Given the description of an element on the screen output the (x, y) to click on. 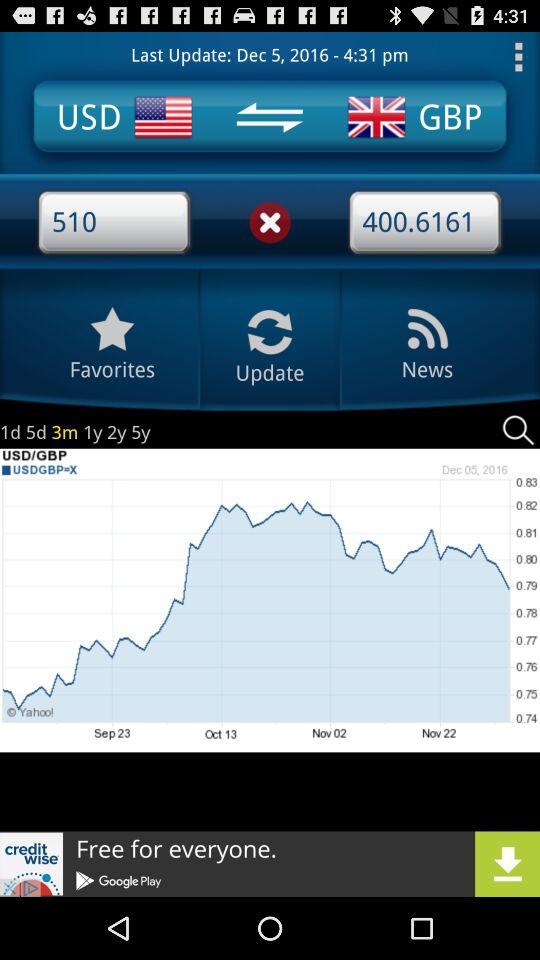
advertising bar (270, 864)
